Given the description of an element on the screen output the (x, y) to click on. 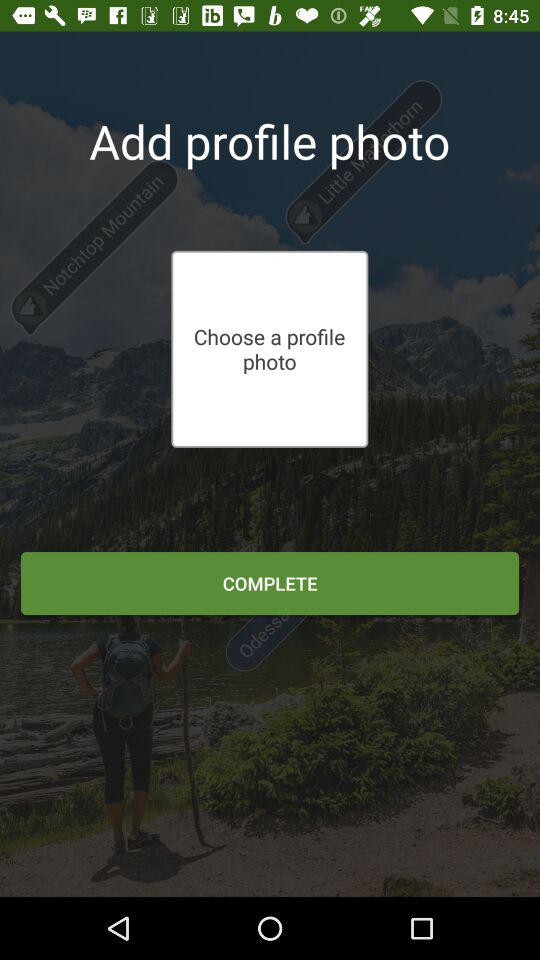
scroll to complete item (270, 583)
